Given the description of an element on the screen output the (x, y) to click on. 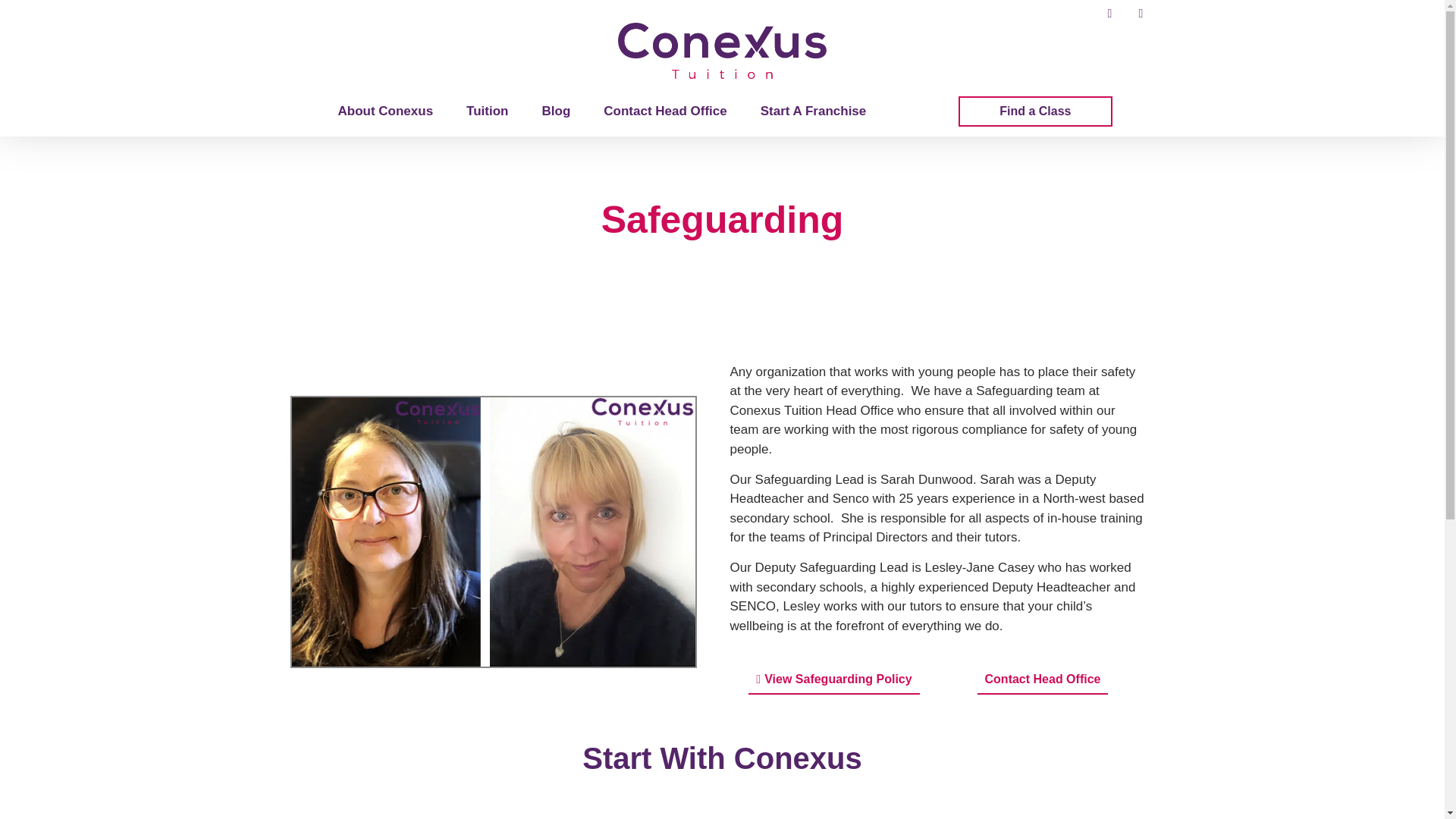
Tuition (486, 111)
Blog (555, 111)
Start A Franchise (813, 111)
About Conexus (385, 111)
Find a Class (1035, 111)
Contact Head Office (664, 111)
